Given the description of an element on the screen output the (x, y) to click on. 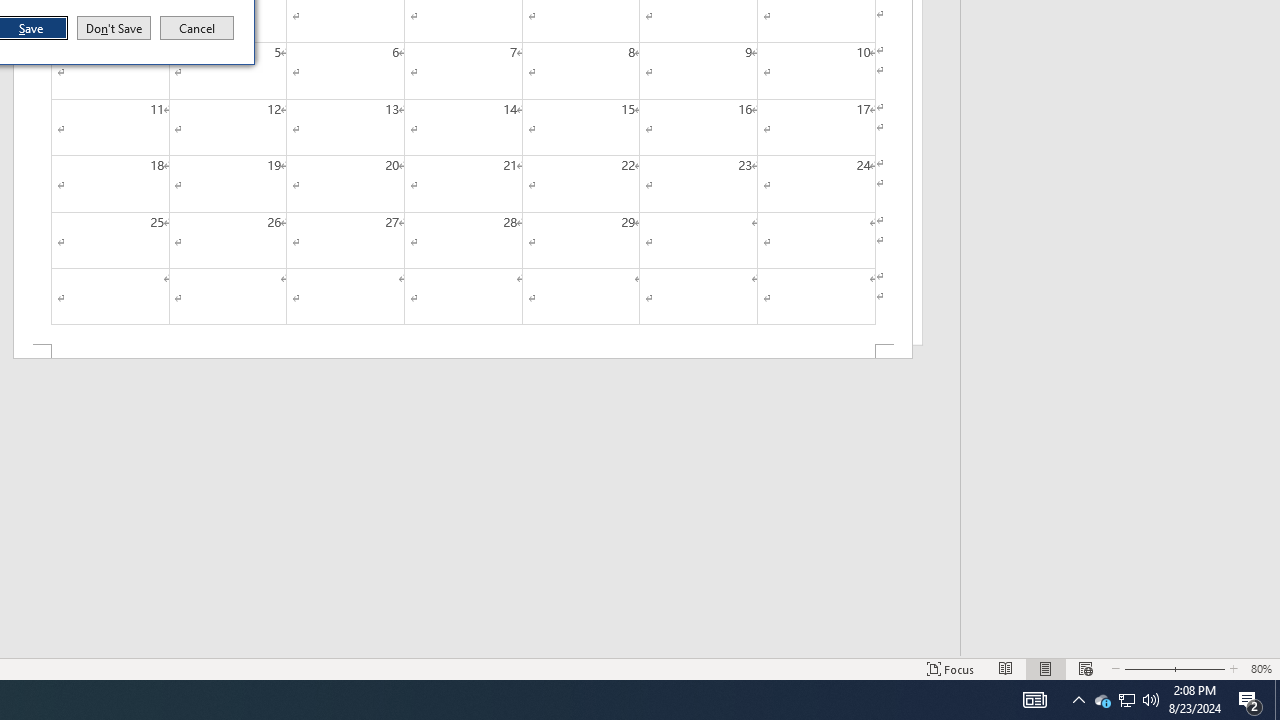
Zoom In (1195, 668)
Notification Chevron (1078, 699)
User Promoted Notification Area (1126, 699)
Focus  (951, 668)
Don't Save (113, 27)
Web Layout (1085, 668)
